Given the description of an element on the screen output the (x, y) to click on. 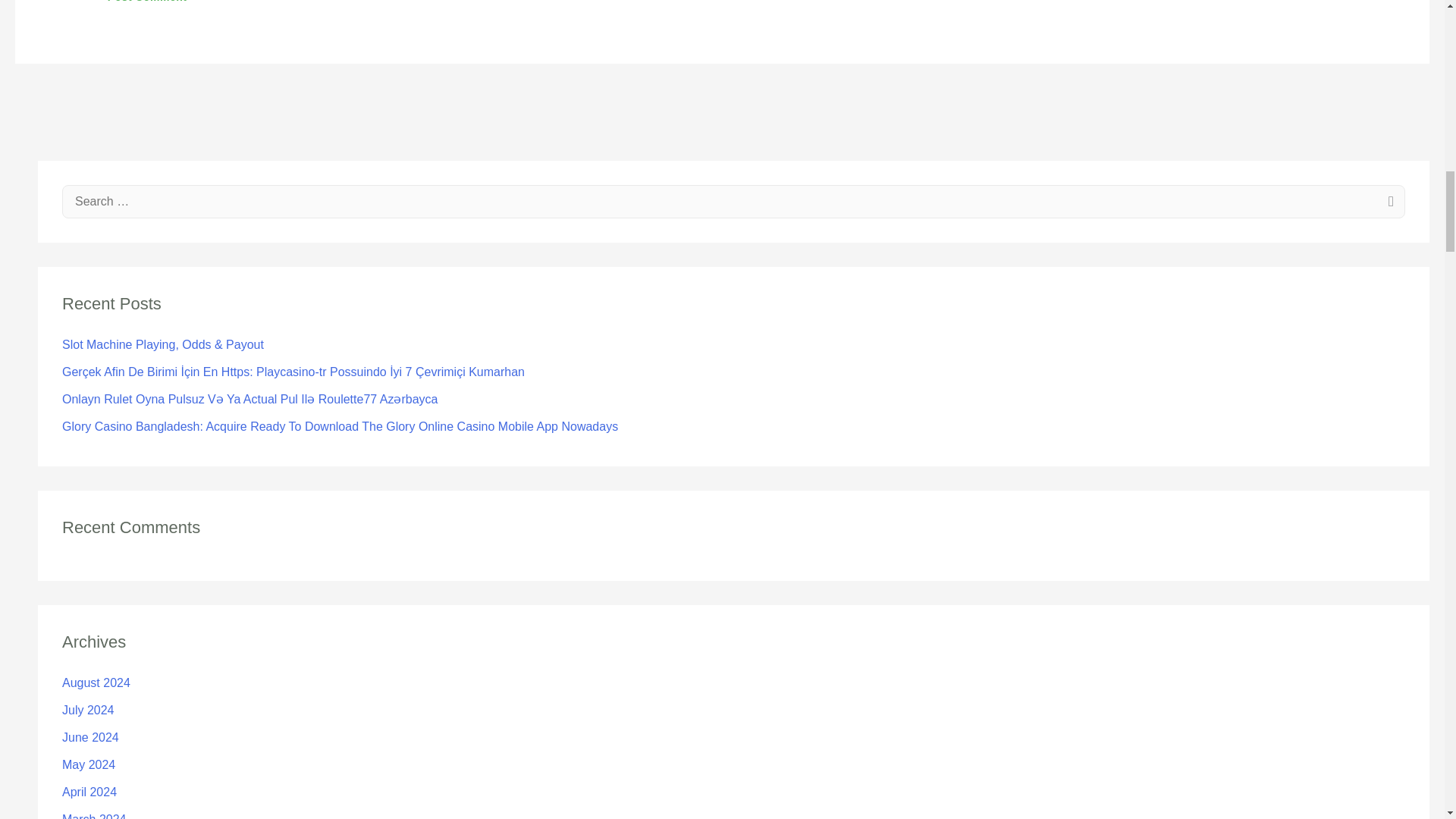
July 2024 (88, 709)
August 2024 (96, 682)
June 2024 (90, 737)
May 2024 (88, 764)
April 2024 (89, 791)
March 2024 (94, 816)
